Given the description of an element on the screen output the (x, y) to click on. 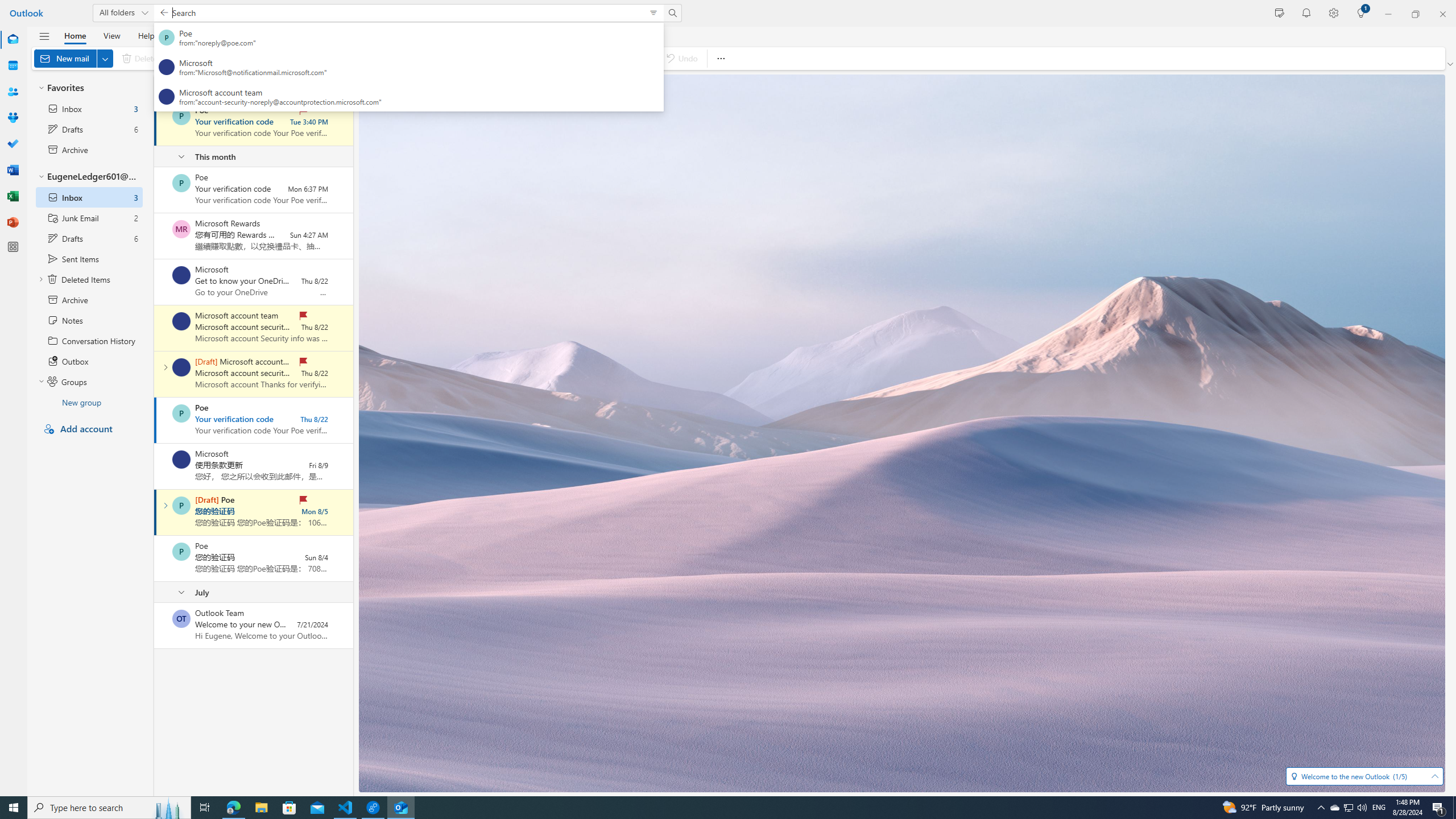
Excel (12, 196)
Delete (141, 58)
PowerPoint (12, 222)
Mark as read (154, 511)
Mail (12, 39)
Select (300, 86)
Help (146, 35)
Poe (180, 551)
People (12, 91)
View (111, 35)
Focused (212, 86)
Open (1434, 775)
